Given the description of an element on the screen output the (x, y) to click on. 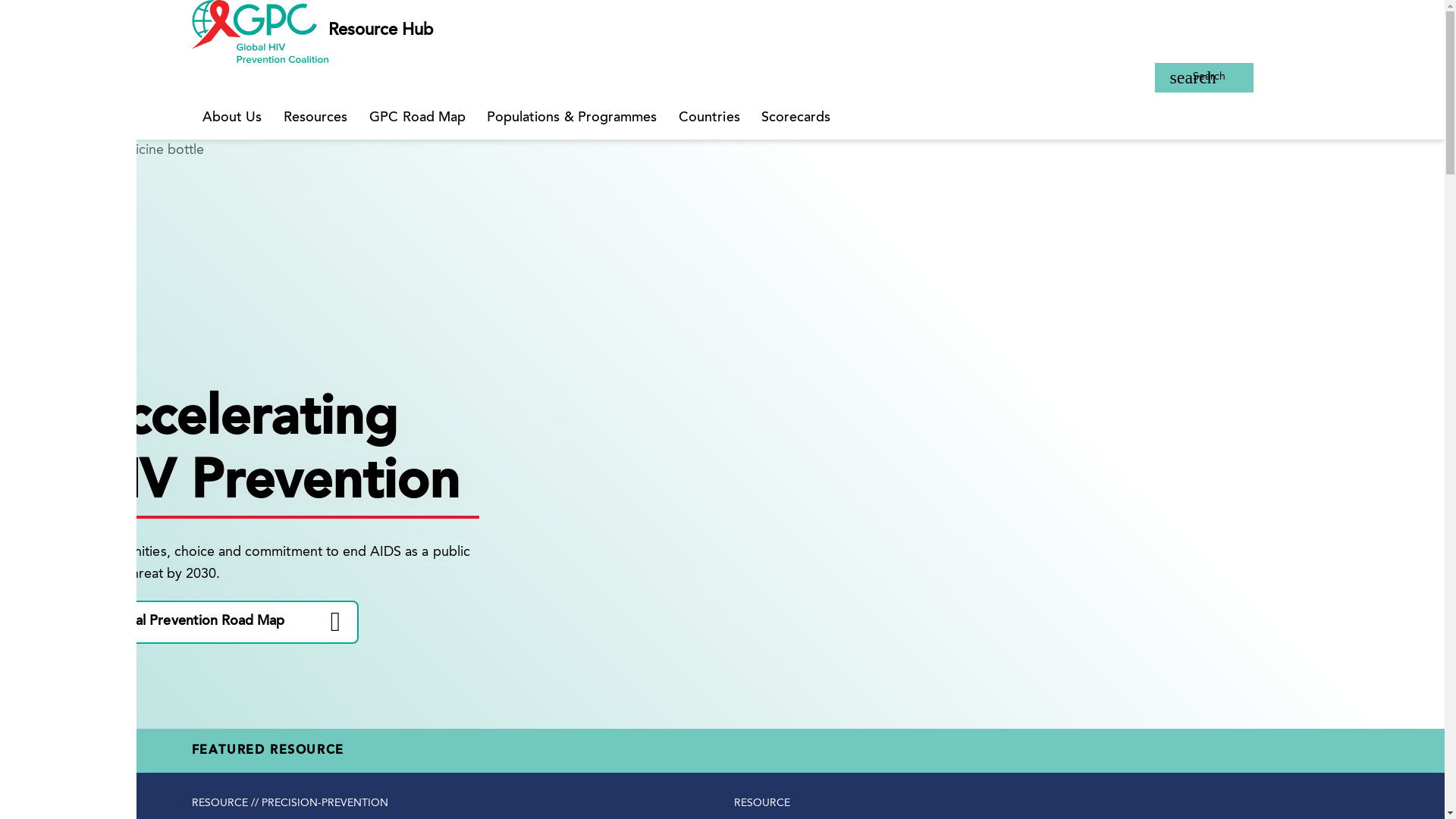
Countries (708, 117)
About Us (231, 117)
Skip to main content (1203, 77)
Scorecards (417, 117)
Resources (796, 117)
Global Prevention Road Map (315, 117)
